Given the description of an element on the screen output the (x, y) to click on. 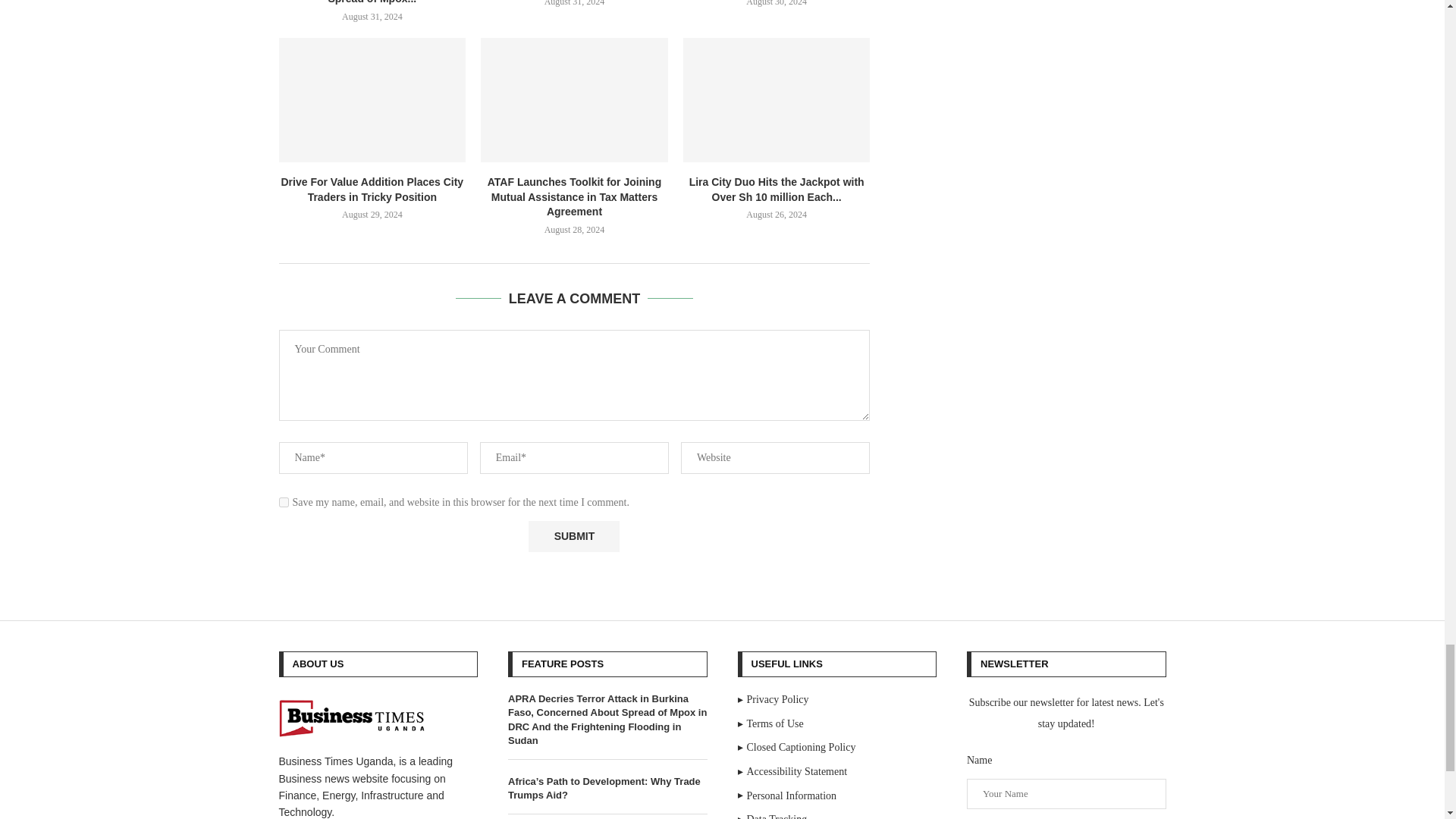
Submit (574, 536)
yes (283, 501)
